Given the description of an element on the screen output the (x, y) to click on. 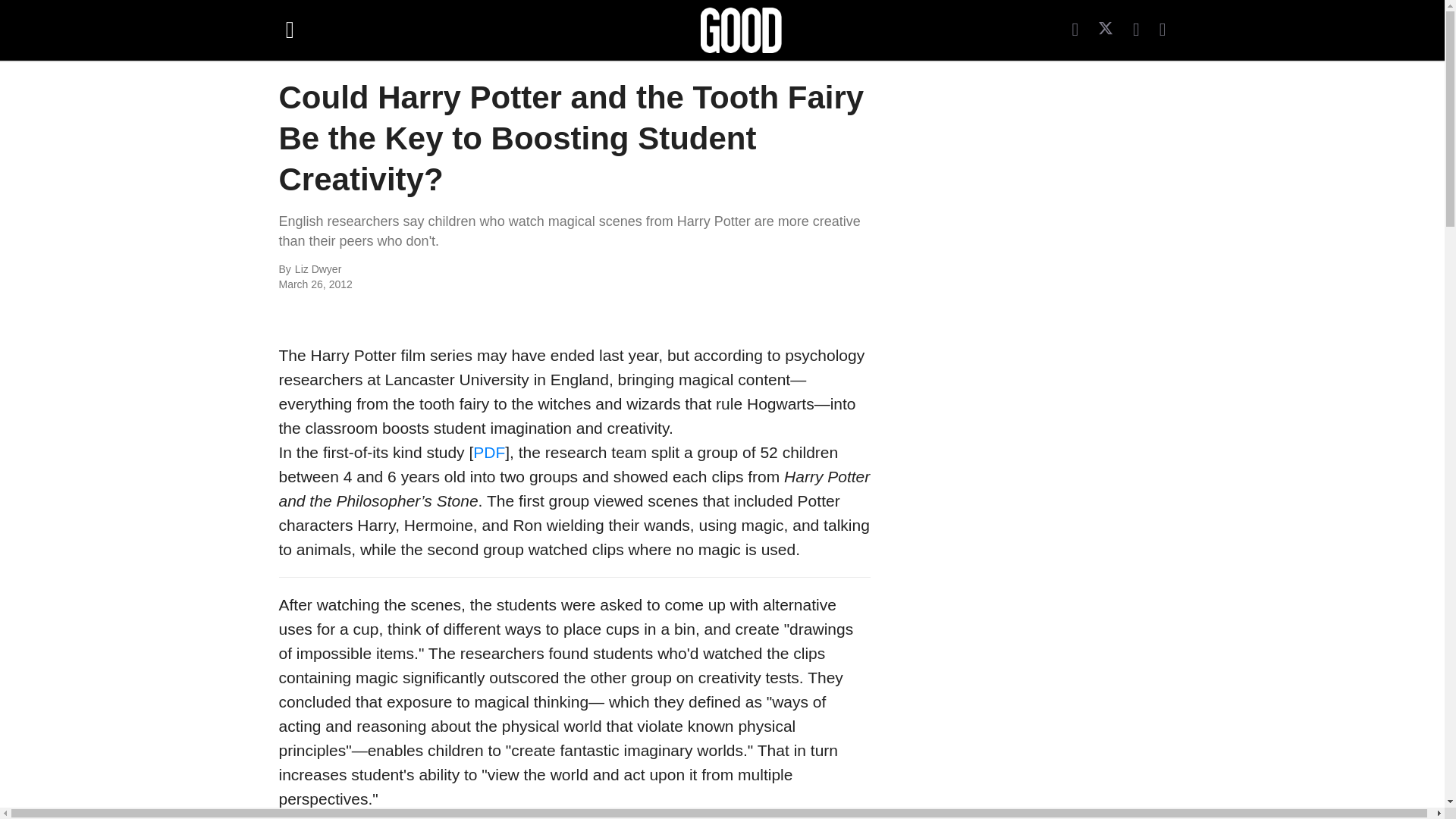
Liz Dwyer (459, 269)
PDF (489, 452)
